Given the description of an element on the screen output the (x, y) to click on. 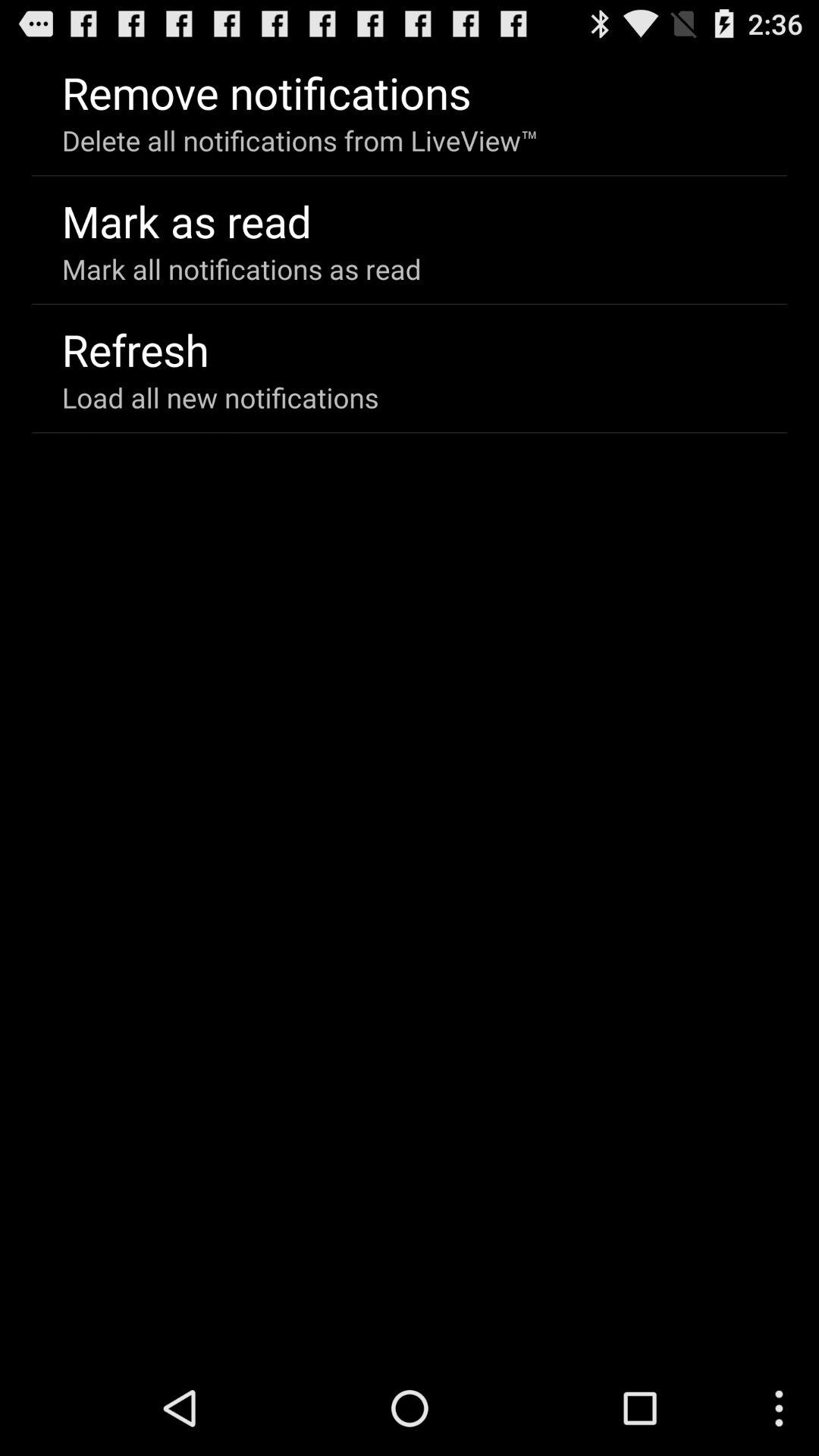
press load all new icon (219, 397)
